Given the description of an element on the screen output the (x, y) to click on. 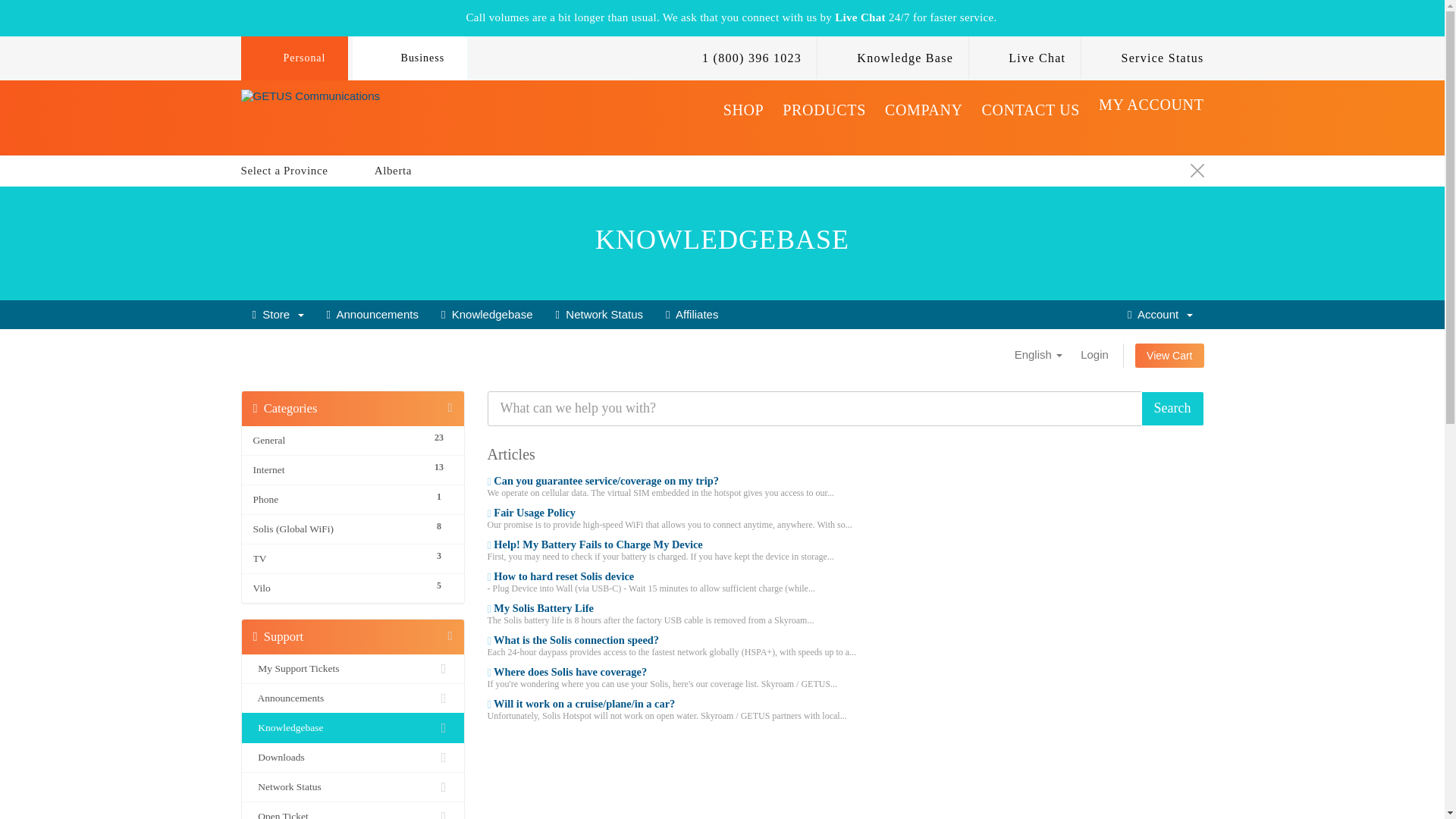
Search (1172, 408)
PRODUCTS (824, 120)
Alberta (393, 170)
Knowledge Base (894, 57)
Select a Province (295, 170)
CONTACT US (1030, 120)
Live Chat (1026, 57)
SHOP (743, 120)
Service Status (1151, 57)
COMPANY (923, 120)
